Given the description of an element on the screen output the (x, y) to click on. 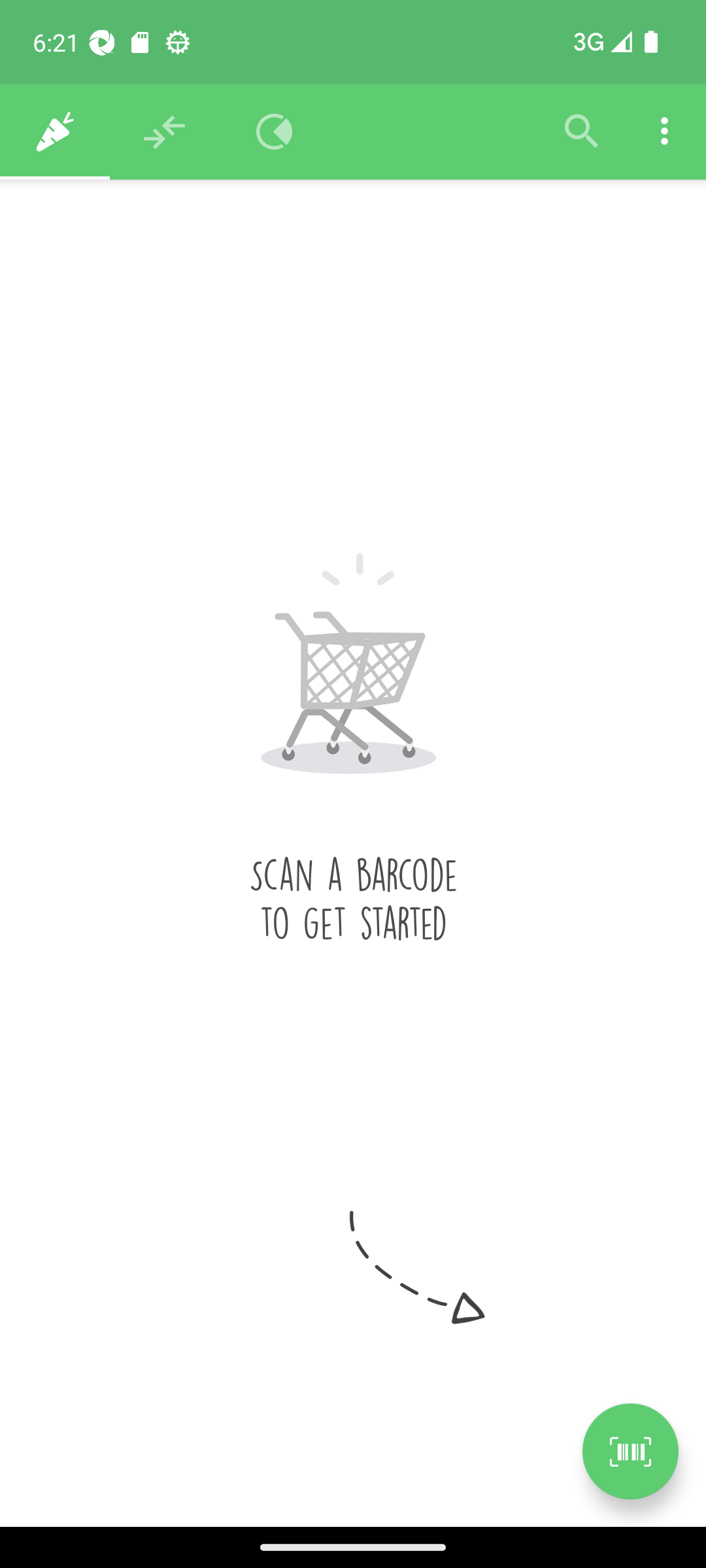
Recommendations (164, 131)
Overview (274, 131)
Filter (581, 131)
Settings (664, 131)
Scan a product (630, 1451)
